Given the description of an element on the screen output the (x, y) to click on. 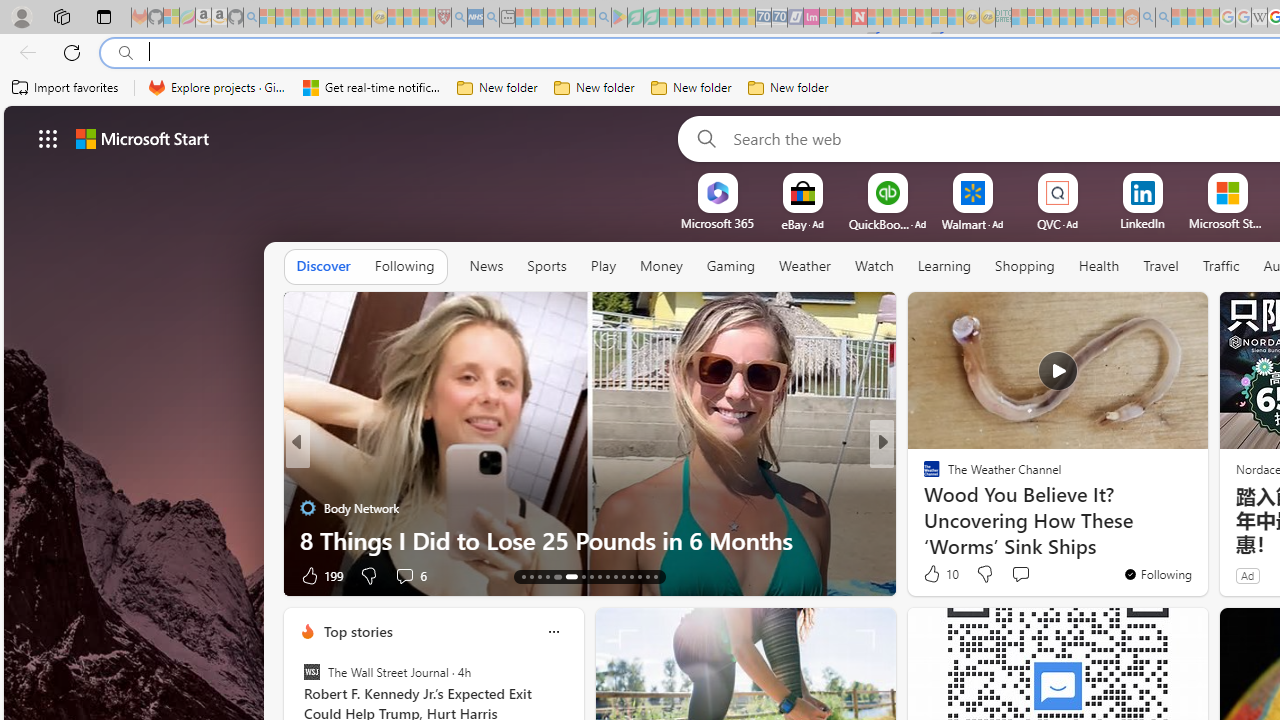
View comments 6 Comment (1019, 574)
Learning (944, 267)
23 Like (934, 574)
Jobs - lastminute.com Investor Portal - Sleeping (811, 17)
AutomationID: tab-15 (539, 576)
152 Like (936, 574)
Lifewire (923, 507)
View comments 6 Comment (1014, 575)
